Given the description of an element on the screen output the (x, y) to click on. 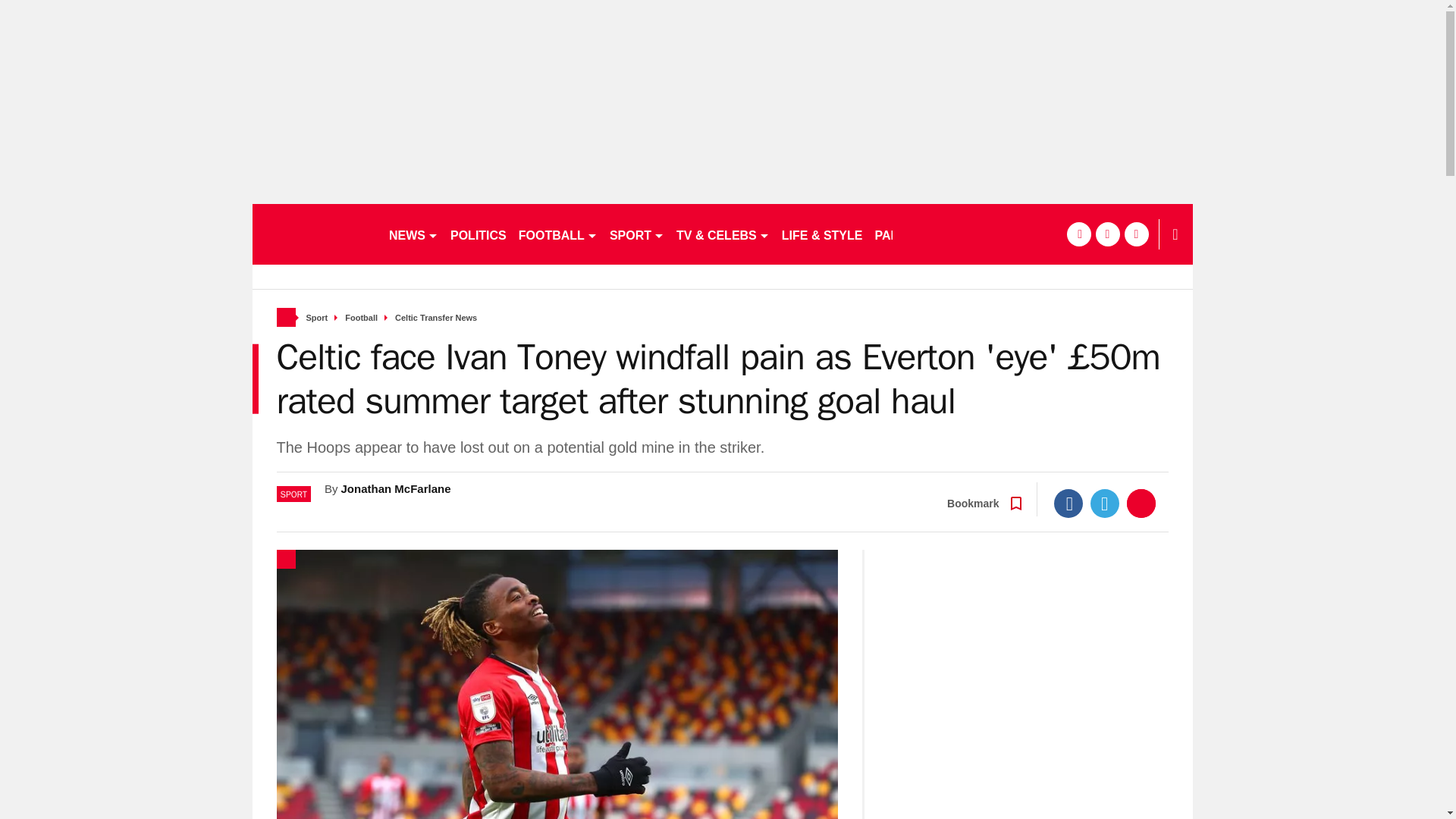
Facebook (1068, 502)
dailyrecord (313, 233)
instagram (1136, 233)
twitter (1106, 233)
NEWS (413, 233)
SPORT (636, 233)
facebook (1077, 233)
Twitter (1104, 502)
FOOTBALL (558, 233)
POLITICS (478, 233)
